Given the description of an element on the screen output the (x, y) to click on. 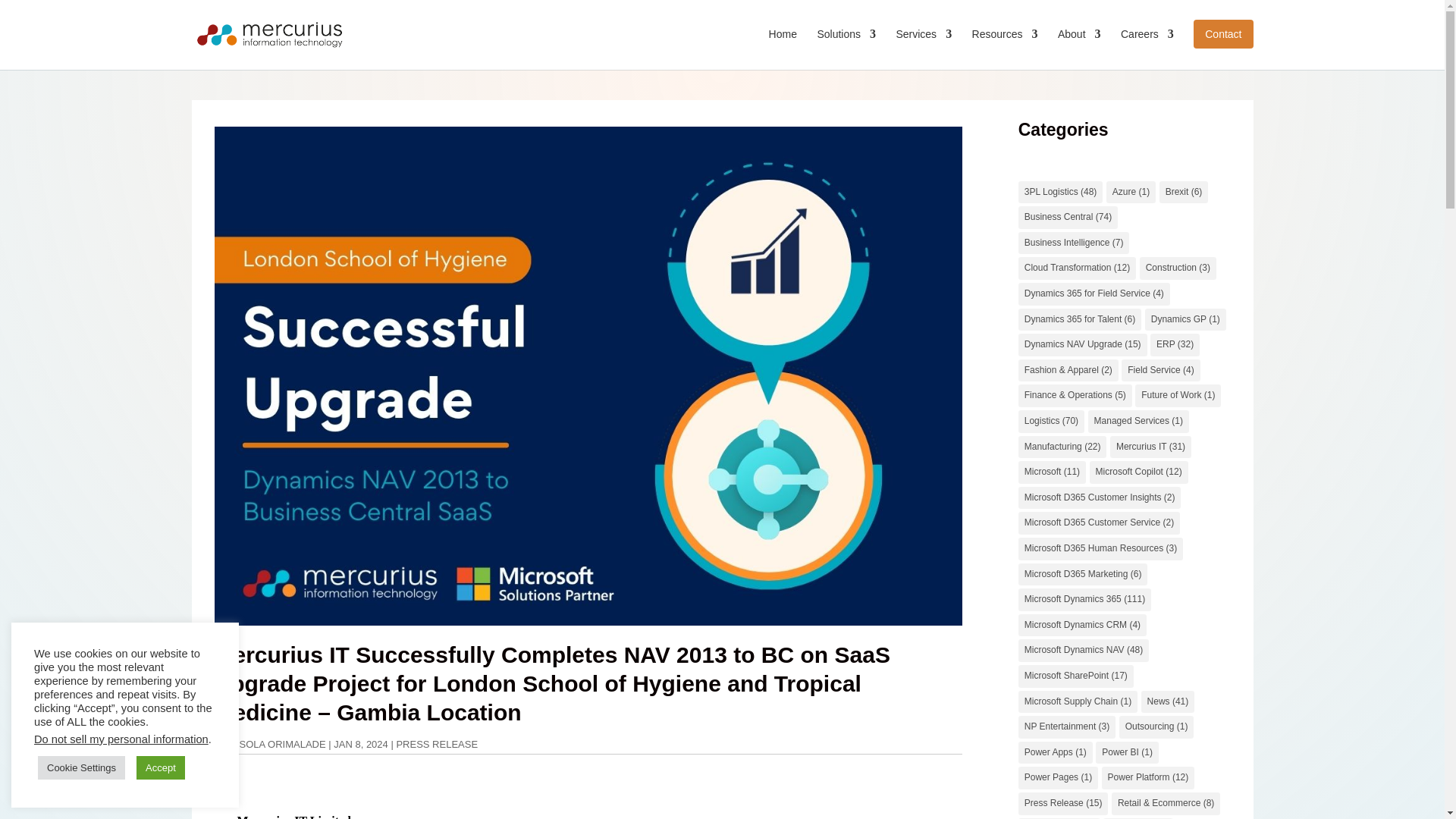
Solutions (846, 46)
Services (923, 46)
Posts by Bisola Orimalade (277, 744)
